Given the description of an element on the screen output the (x, y) to click on. 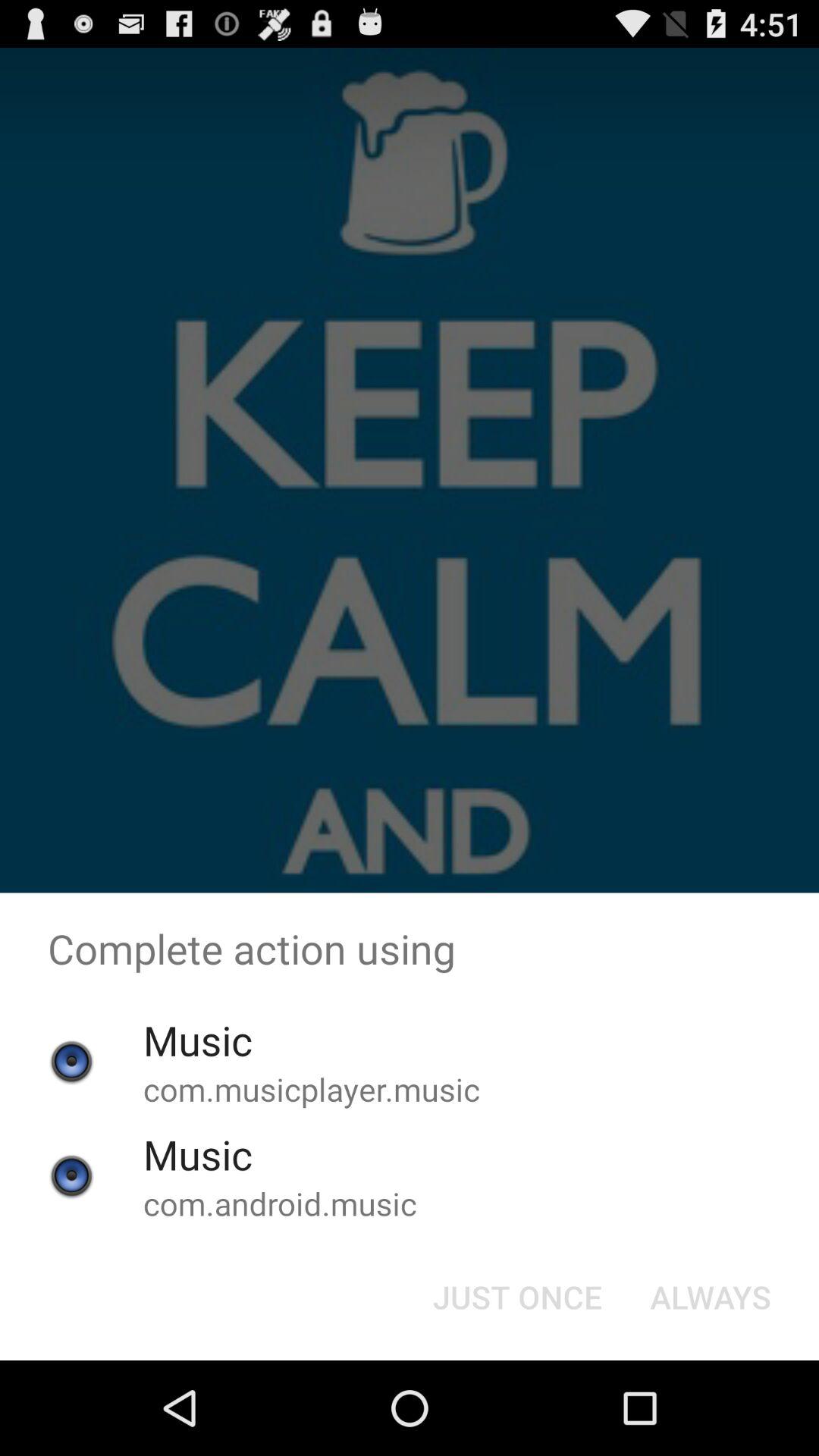
turn off the item to the right of the just once (710, 1296)
